Given the description of an element on the screen output the (x, y) to click on. 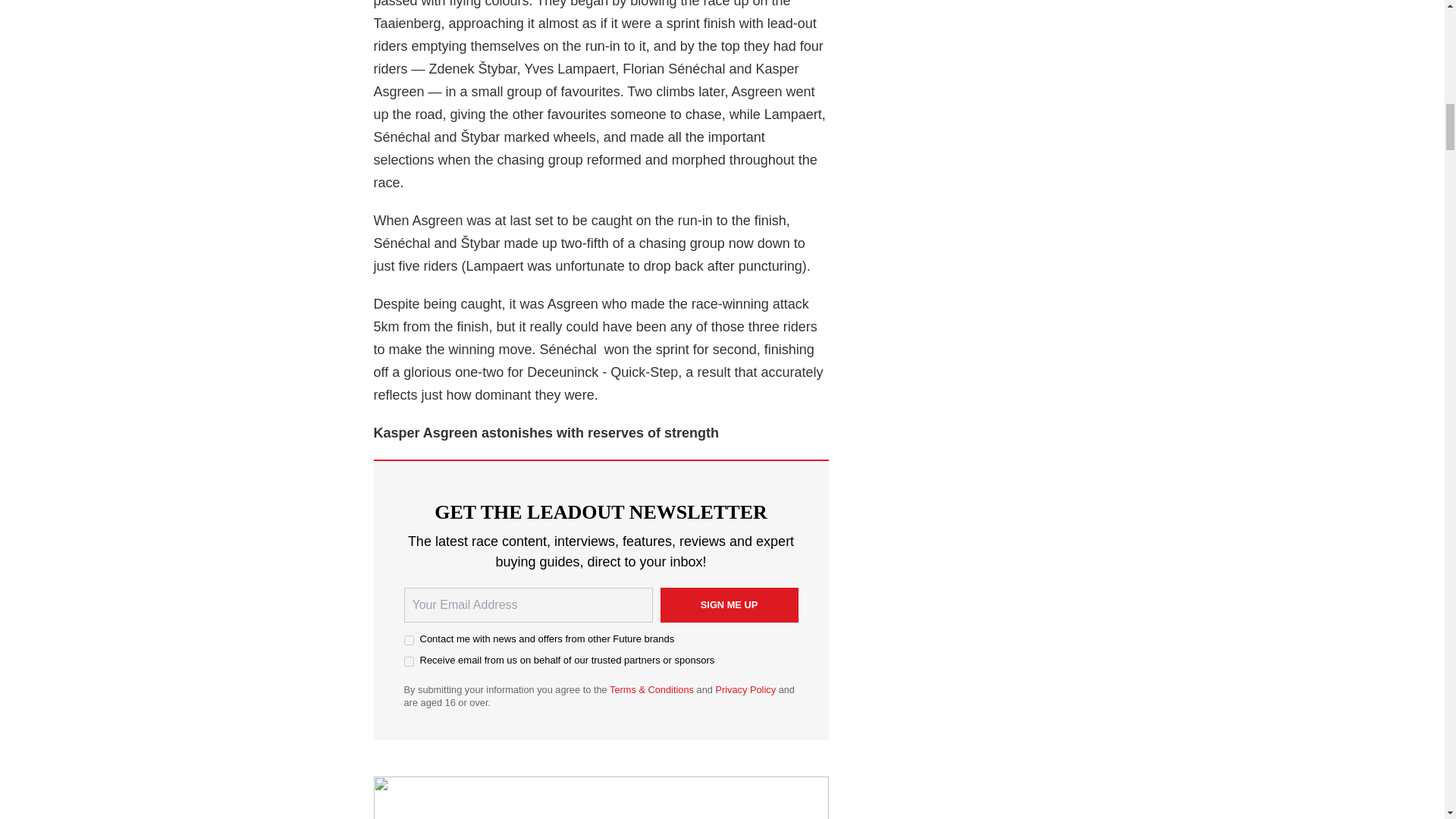
on (408, 661)
on (408, 640)
Sign me up (728, 605)
